Given the description of an element on the screen output the (x, y) to click on. 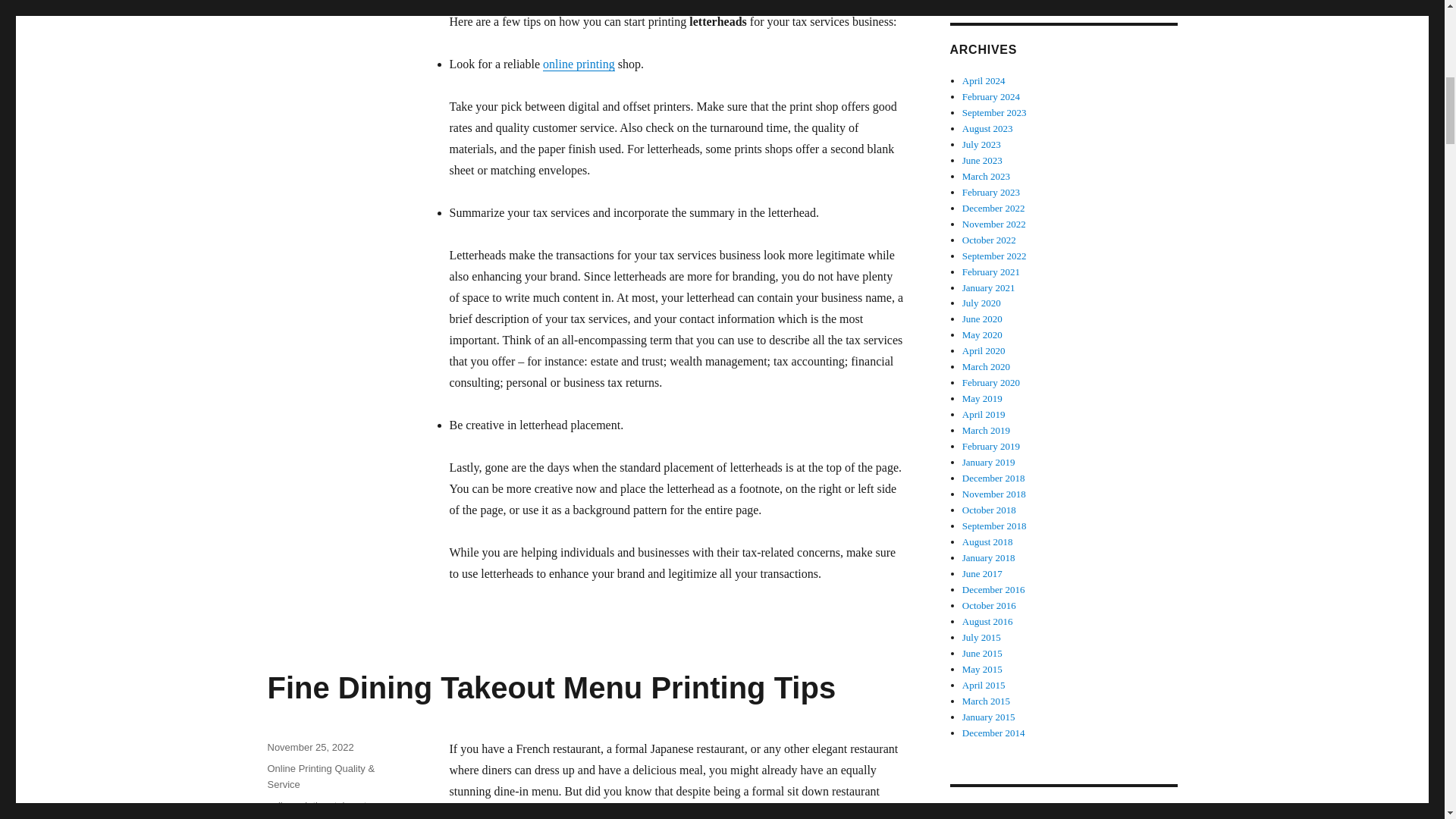
to-go menus (672, 812)
Fine Dining Takeout Menu Printing Tips (550, 687)
November 25, 2022 (309, 747)
online printing (297, 805)
online printing (578, 63)
takeout menus (366, 805)
to-go menus (293, 817)
